Given the description of an element on the screen output the (x, y) to click on. 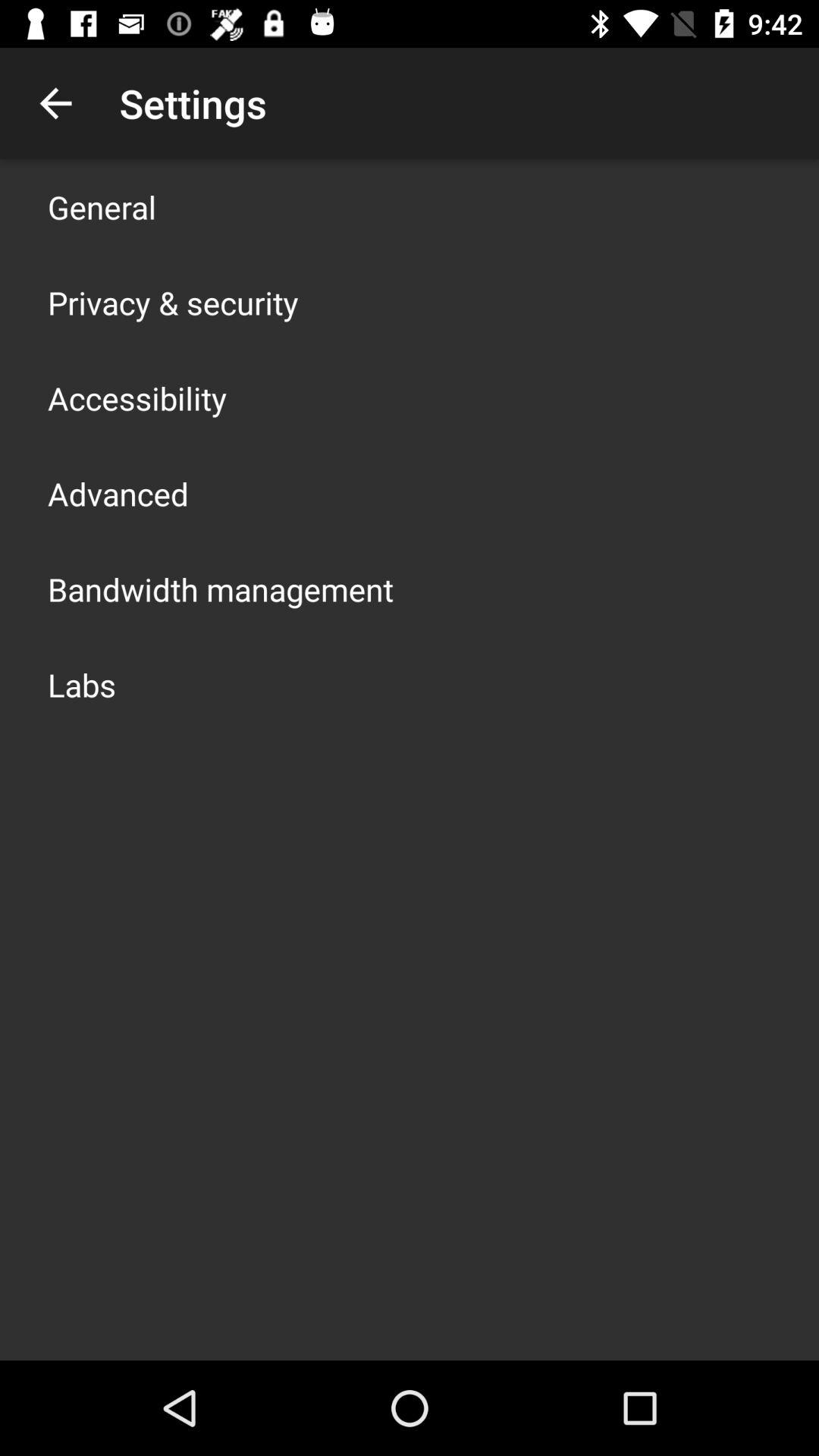
turn on the item above the advanced (136, 397)
